Given the description of an element on the screen output the (x, y) to click on. 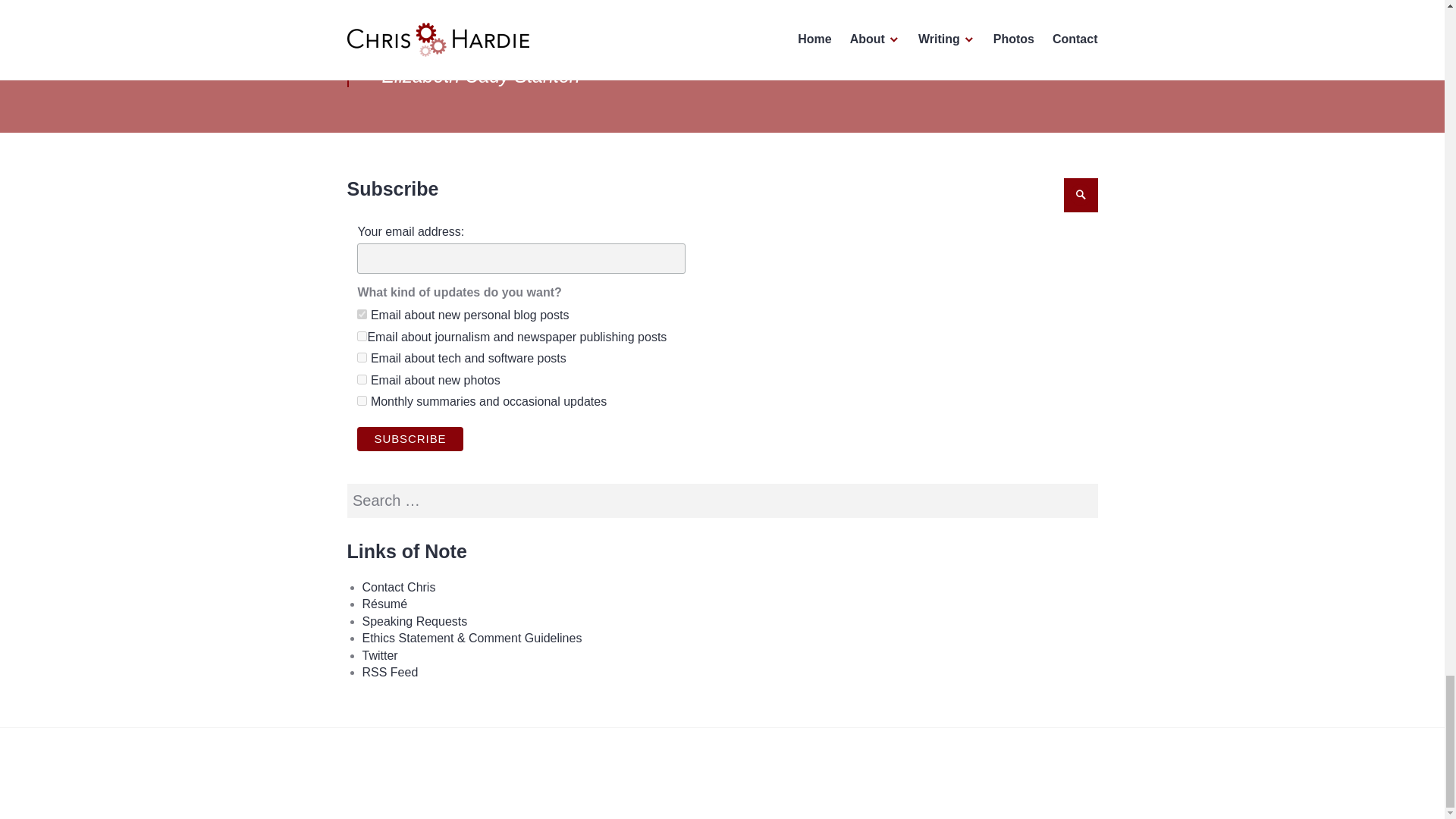
Subscribe (409, 438)
1 (361, 314)
4 (361, 379)
8 (361, 357)
Search for: (722, 500)
2 (361, 400)
